Given the description of an element on the screen output the (x, y) to click on. 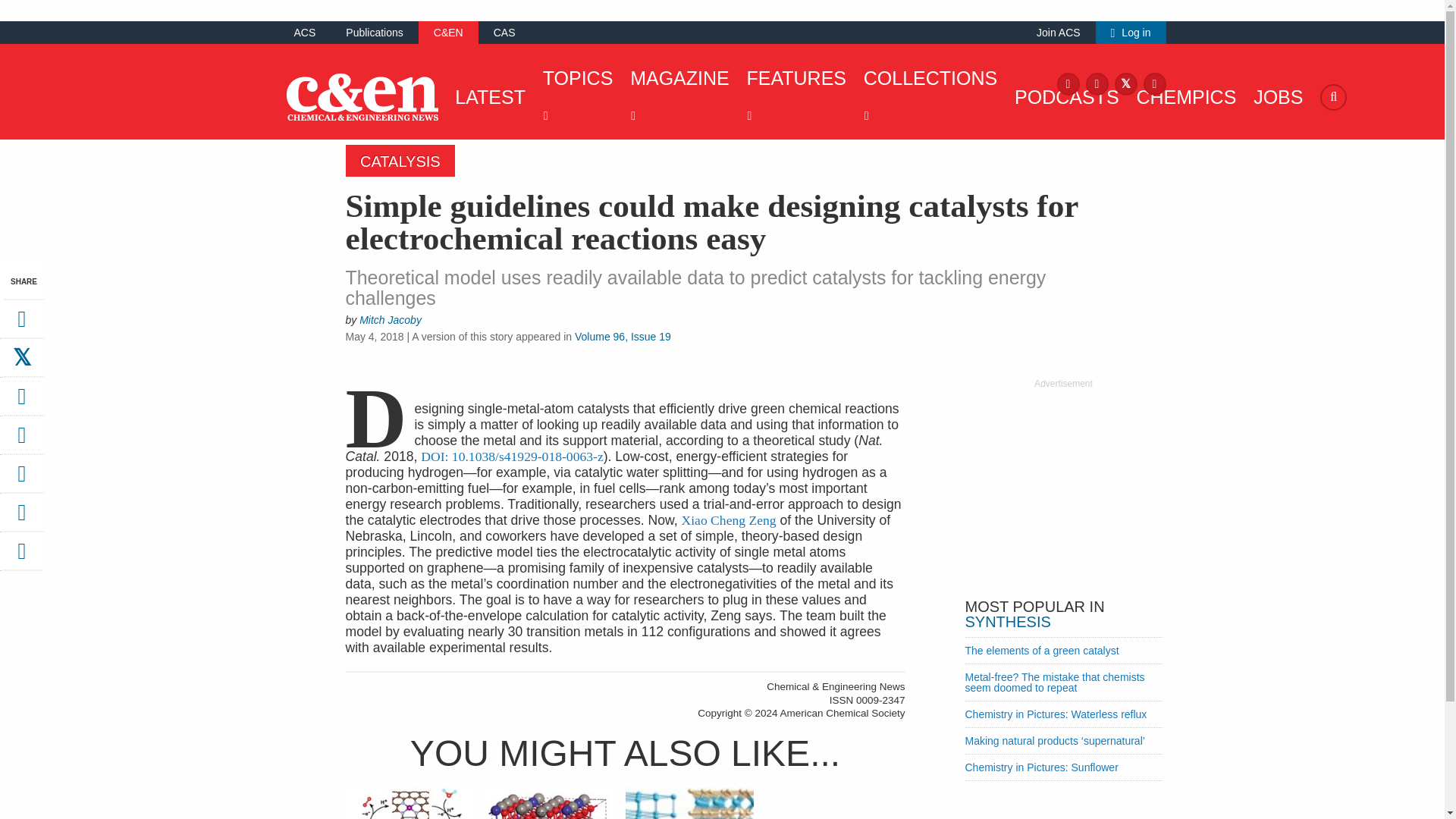
Facebook (1068, 82)
WeChat (21, 479)
3rd party ad content (1062, 484)
LinkedIn (1154, 82)
TOPICS (573, 96)
ACS (304, 32)
Publications (374, 32)
Instagram (1097, 82)
LATEST (485, 96)
Xiao Cheng Zeng, U. Nebraska (728, 519)
